Given the description of an element on the screen output the (x, y) to click on. 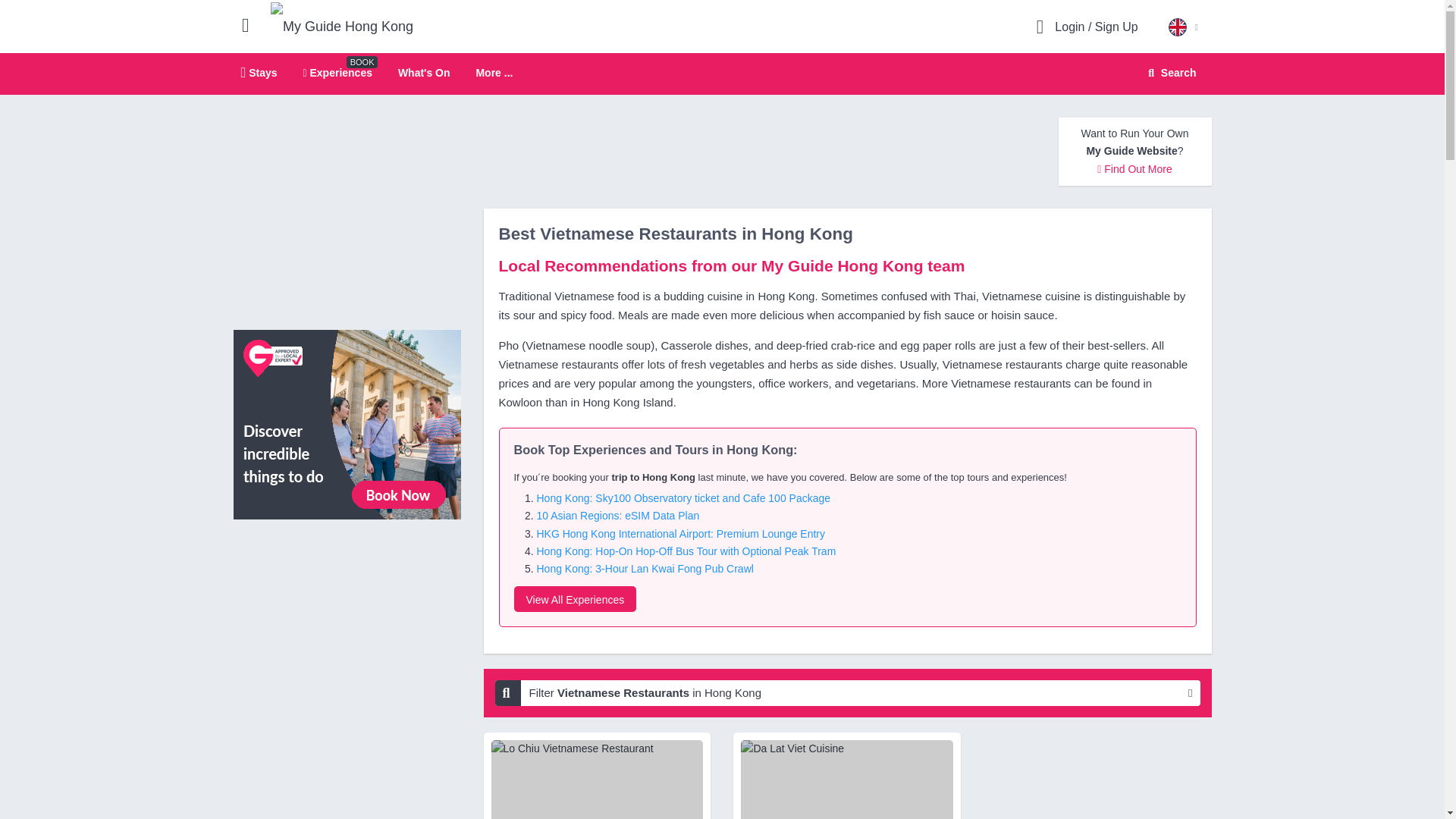
View All Experiences (575, 598)
What's On (423, 72)
View All Experiences (346, 423)
Search (721, 74)
My Guide Hong Kong (1169, 72)
More ... (341, 26)
Search Website (494, 72)
Experiences (1170, 73)
Stays (337, 72)
